Given the description of an element on the screen output the (x, y) to click on. 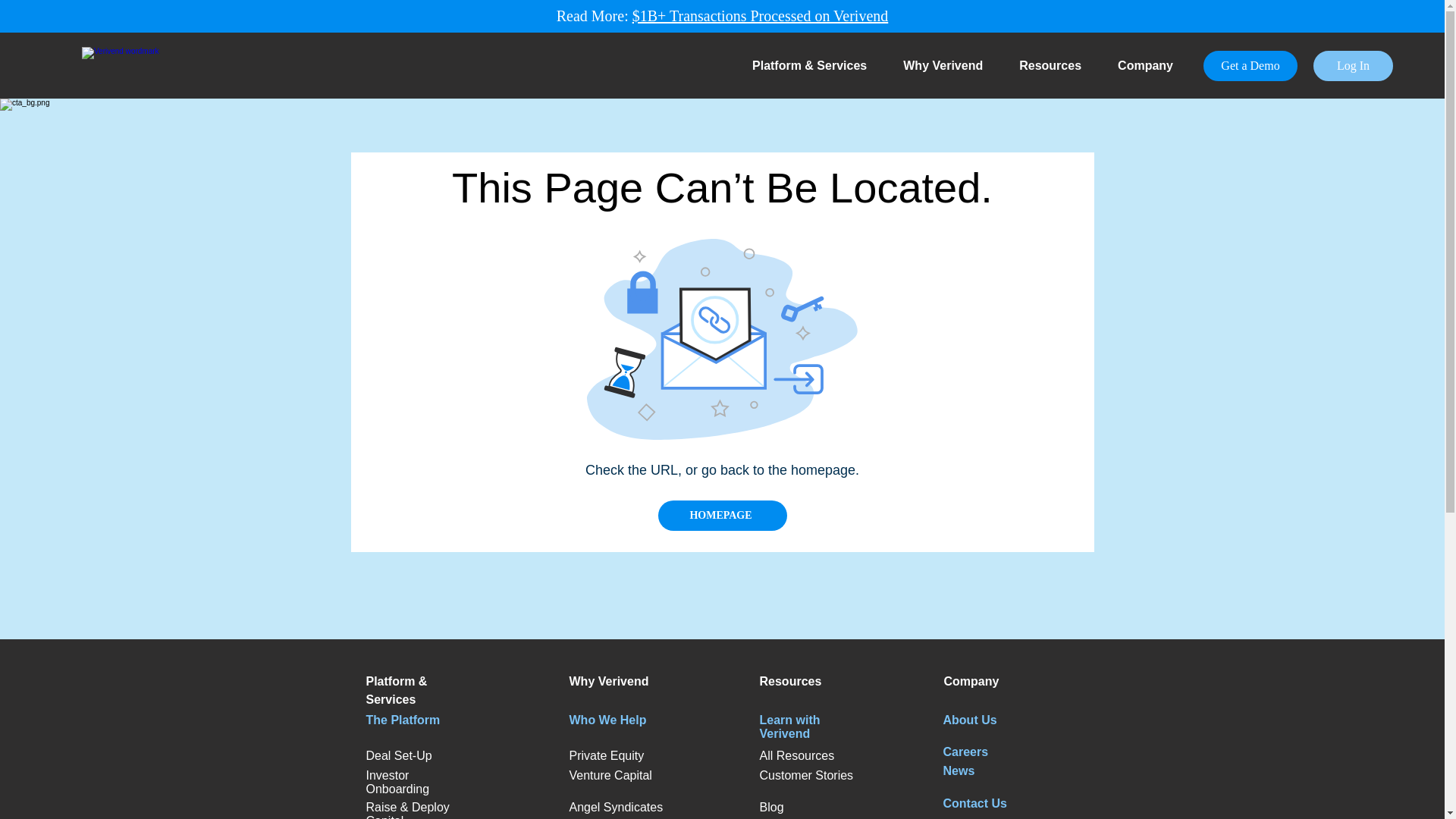
Deal Set-Up (397, 755)
The Platform (402, 719)
HOMEPAGE (722, 515)
Get a Demo (1250, 65)
Log In (1353, 65)
Private Equity (606, 755)
Investor Onboarding (397, 782)
